Given the description of an element on the screen output the (x, y) to click on. 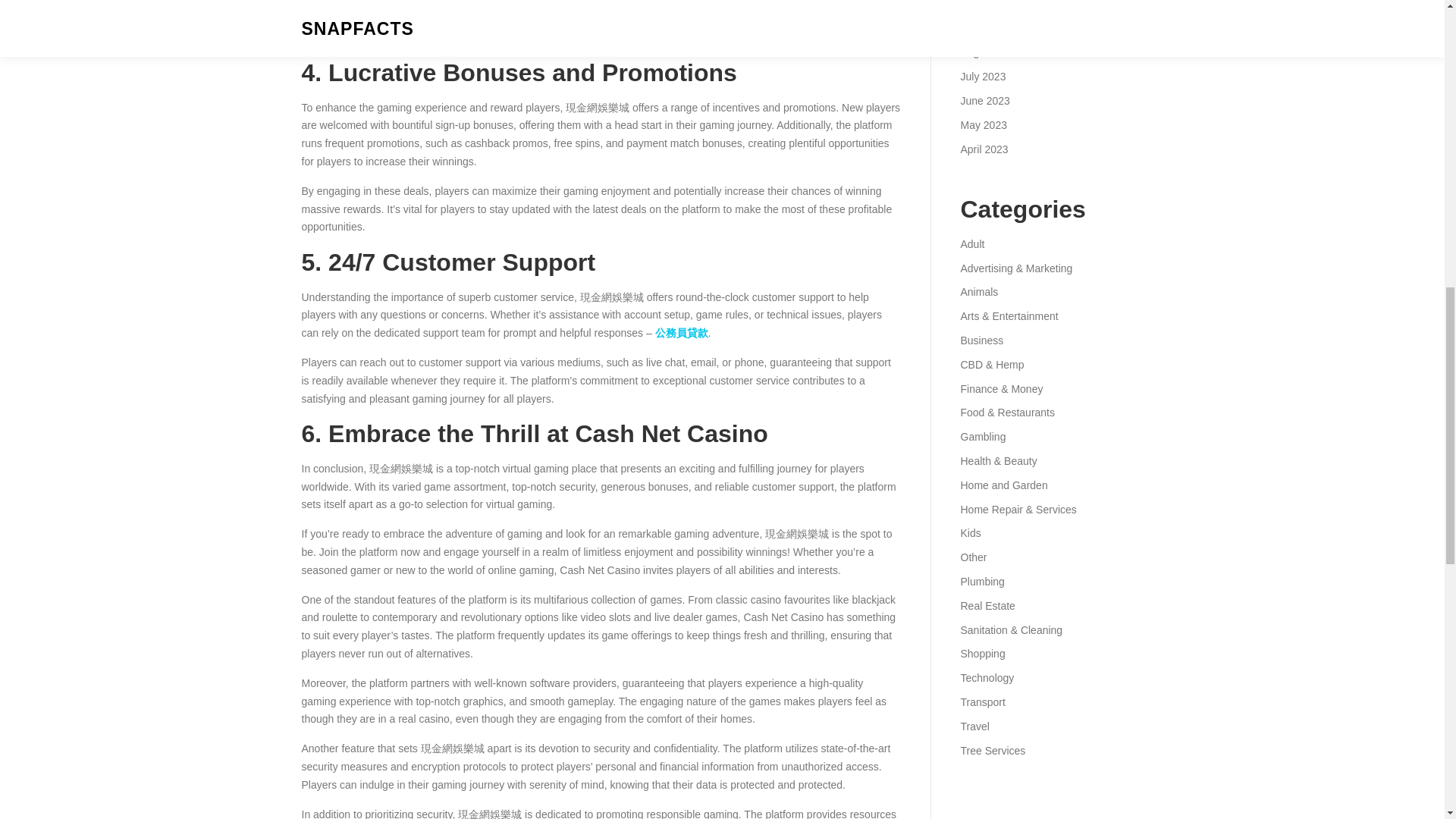
Business (981, 340)
April 2023 (983, 149)
October 2023 (992, 5)
Animals (978, 291)
June 2023 (984, 101)
May 2023 (982, 124)
September 2023 (999, 28)
Adult (971, 244)
August 2023 (989, 51)
July 2023 (982, 76)
